Given the description of an element on the screen output the (x, y) to click on. 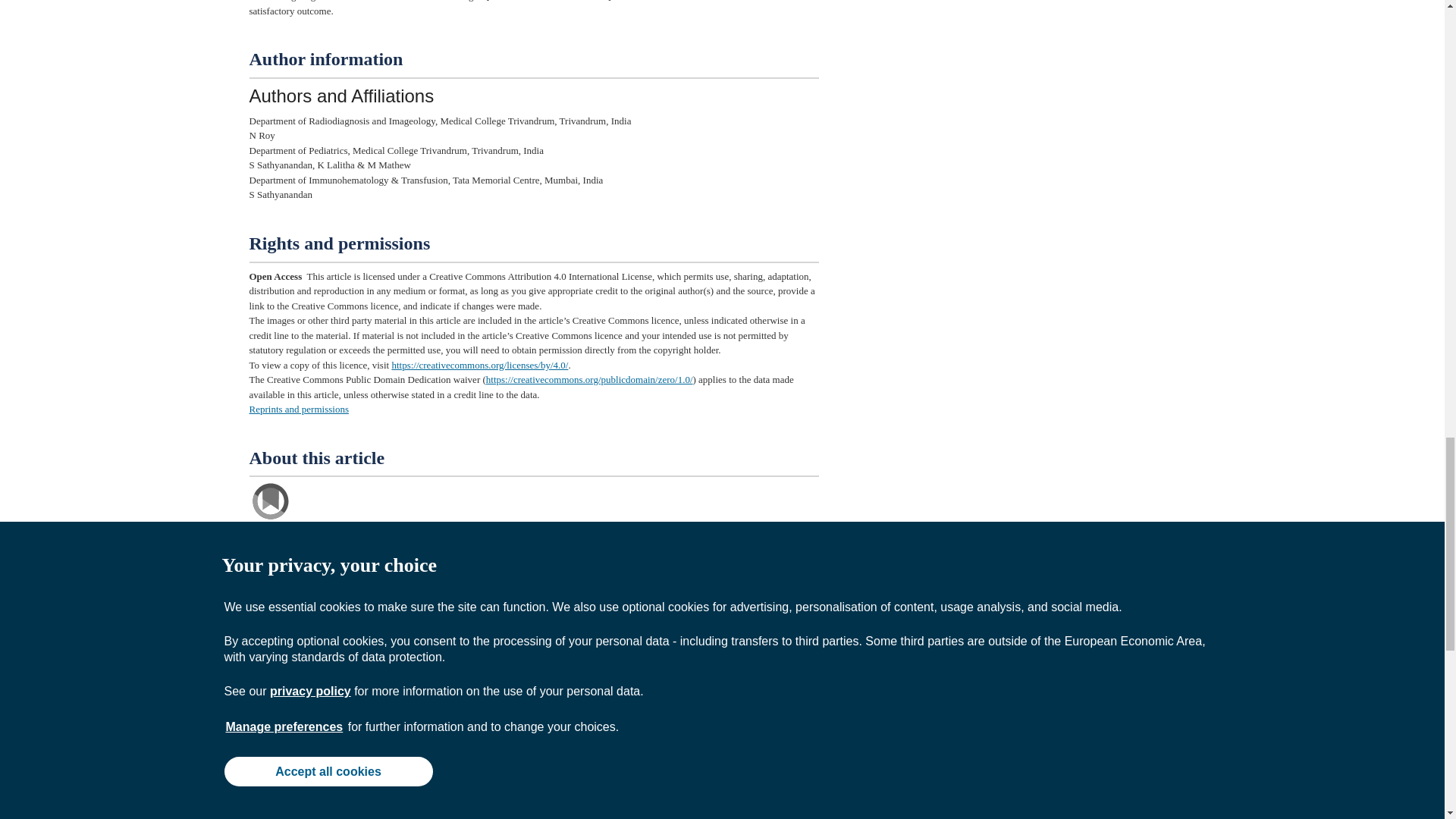
Digital Object Identifier (288, 654)
